Given the description of an element on the screen output the (x, y) to click on. 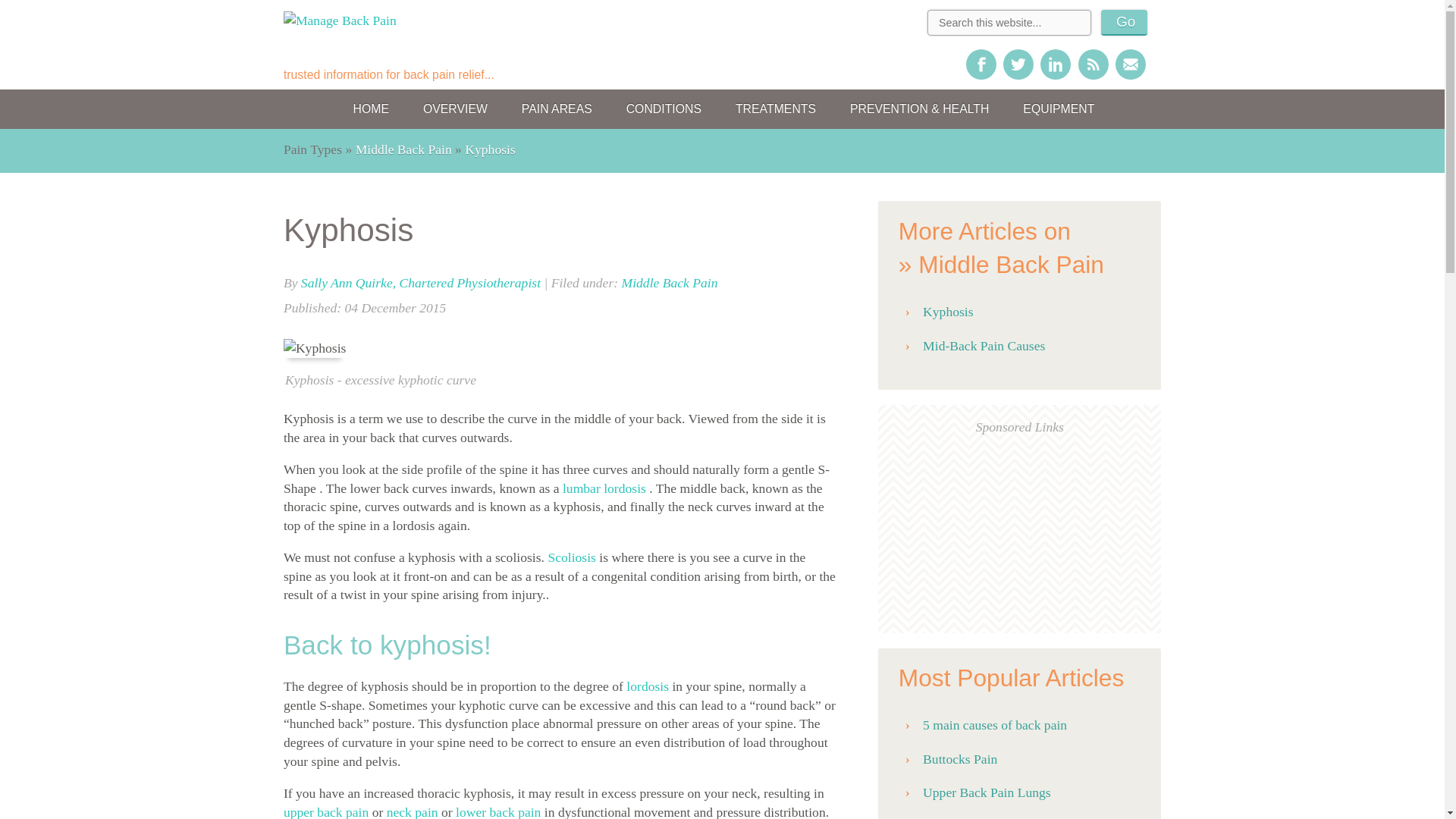
Symptoms of lower back pain.  (497, 811)
Go (1123, 22)
Manage Back Pain (359, 51)
Upper back pain (325, 811)
Follow us on Twitter (1018, 64)
Contact us (1130, 64)
Article on Lumbar Lordosis (645, 685)
Follow us on Twitter (1018, 64)
Contact us (1130, 64)
Connect on Linked in (1055, 64)
